Given the description of an element on the screen output the (x, y) to click on. 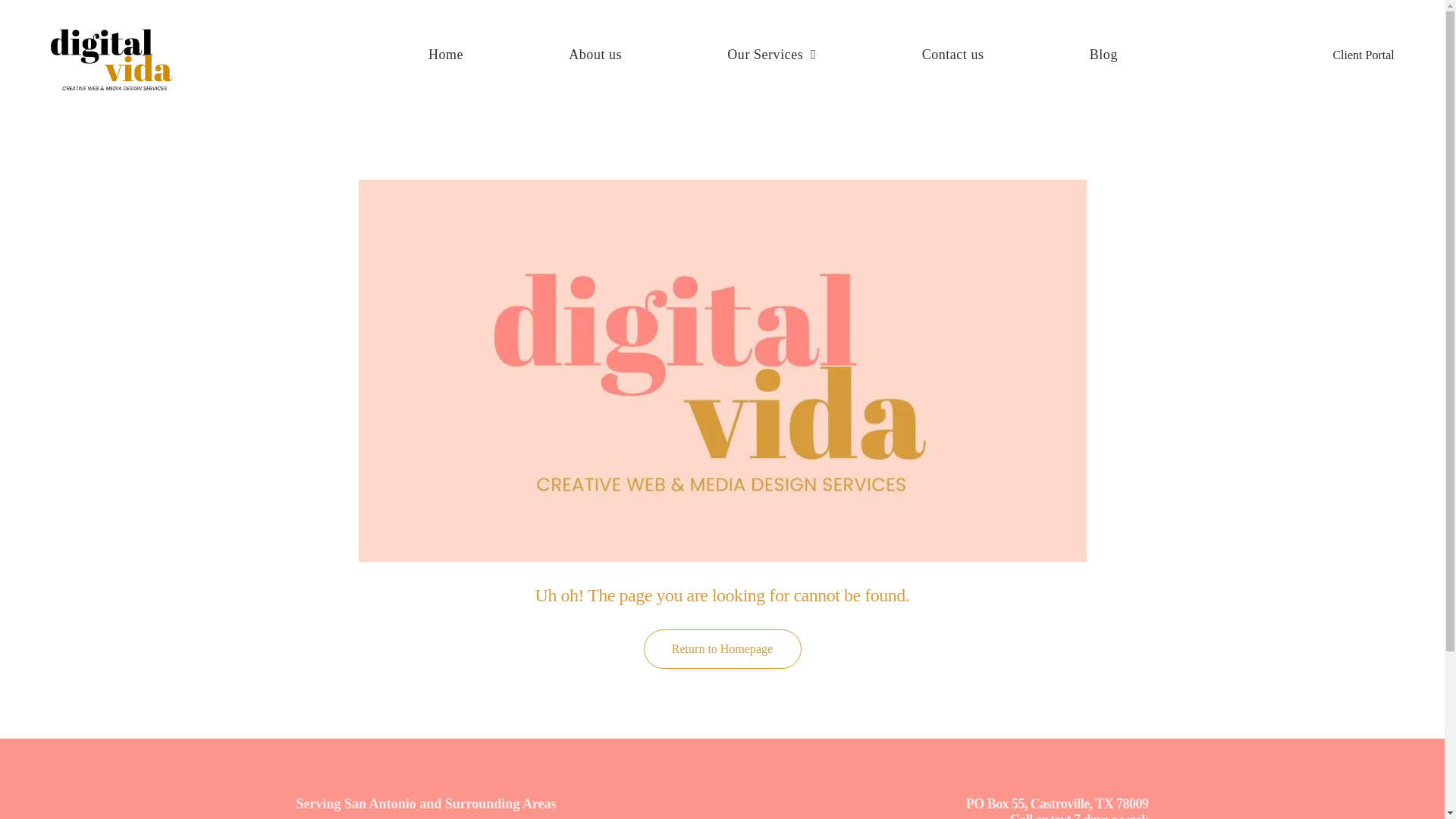
About us (595, 54)
Contact us (952, 54)
Home (446, 54)
Client Portal (1352, 54)
Return to Homepage (721, 649)
Blog (1103, 54)
Our Services (771, 54)
